Given the description of an element on the screen output the (x, y) to click on. 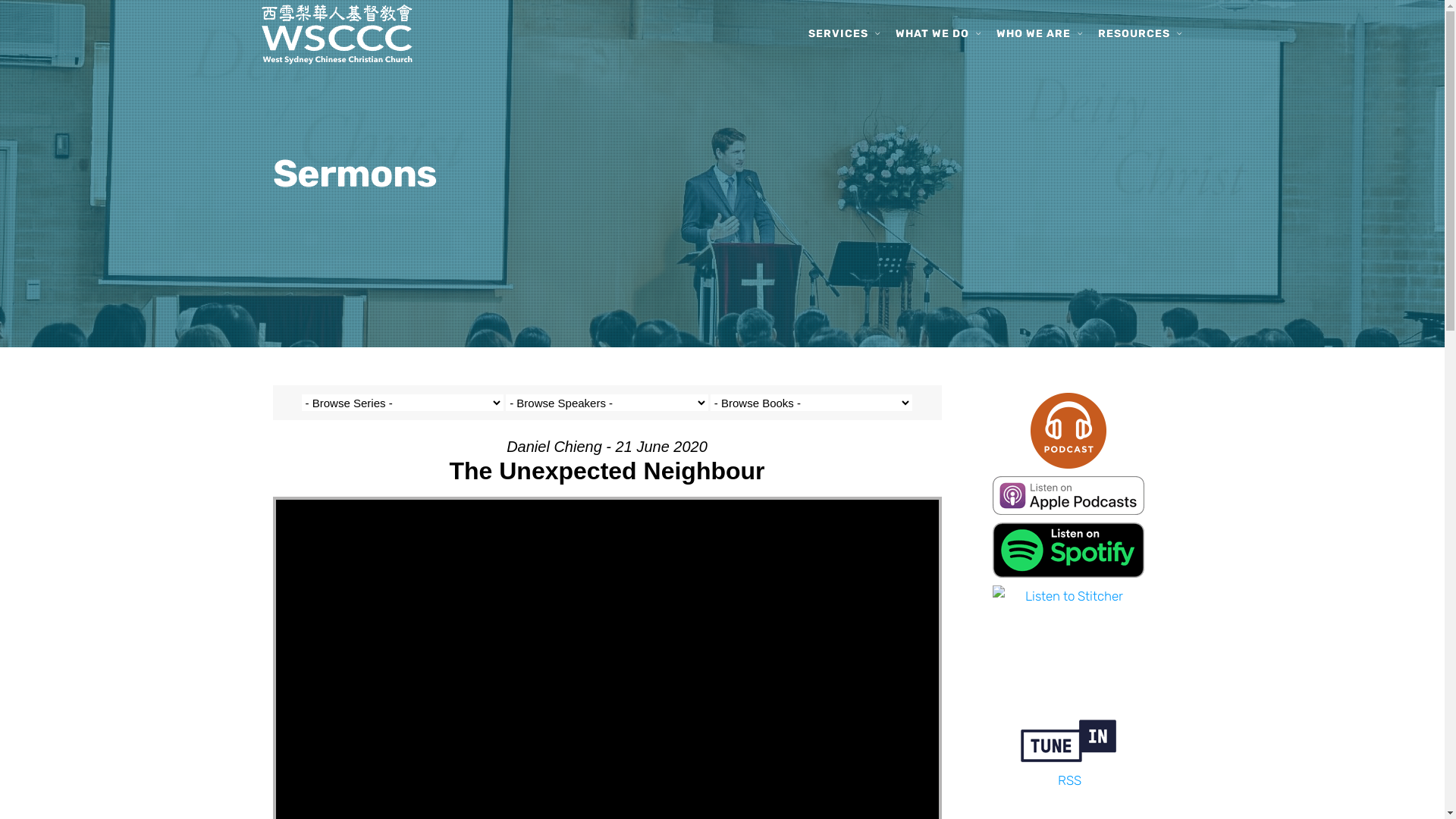
Podcast-Icon-01-01 Element type: hover (1067, 430)
RSS Element type: text (1069, 779)
WHAT WE DO Element type: text (931, 33)
SERVICES Element type: text (837, 33)
RESOURCES Element type: text (1133, 33)
WHO WE ARE Element type: text (1033, 33)
